Given the description of an element on the screen output the (x, y) to click on. 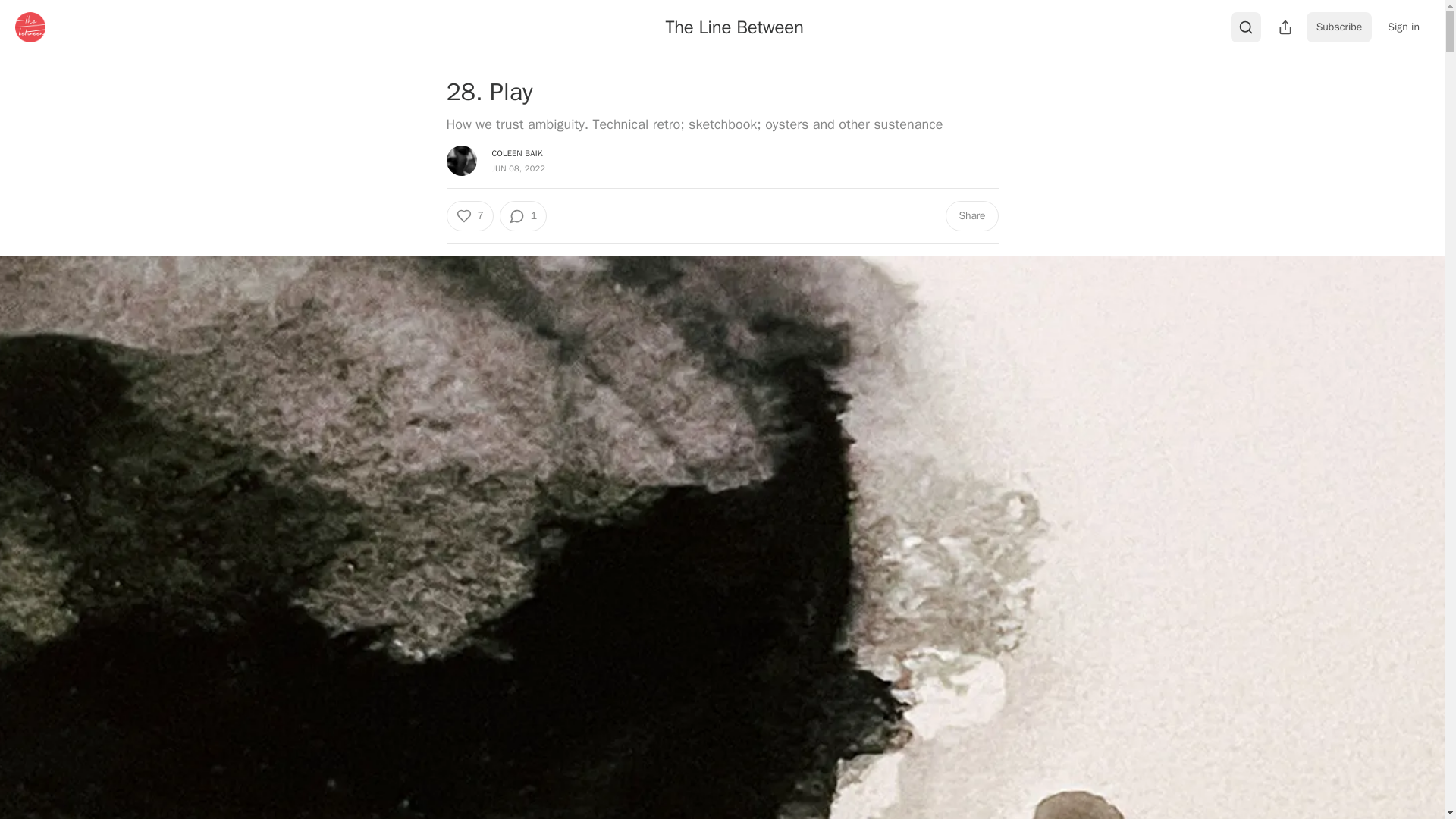
1 (523, 215)
Subscribe (1339, 27)
Sign in (1403, 27)
The Line Between (734, 26)
7 (469, 215)
COLEEN BAIK (516, 153)
Share (970, 215)
